Given the description of an element on the screen output the (x, y) to click on. 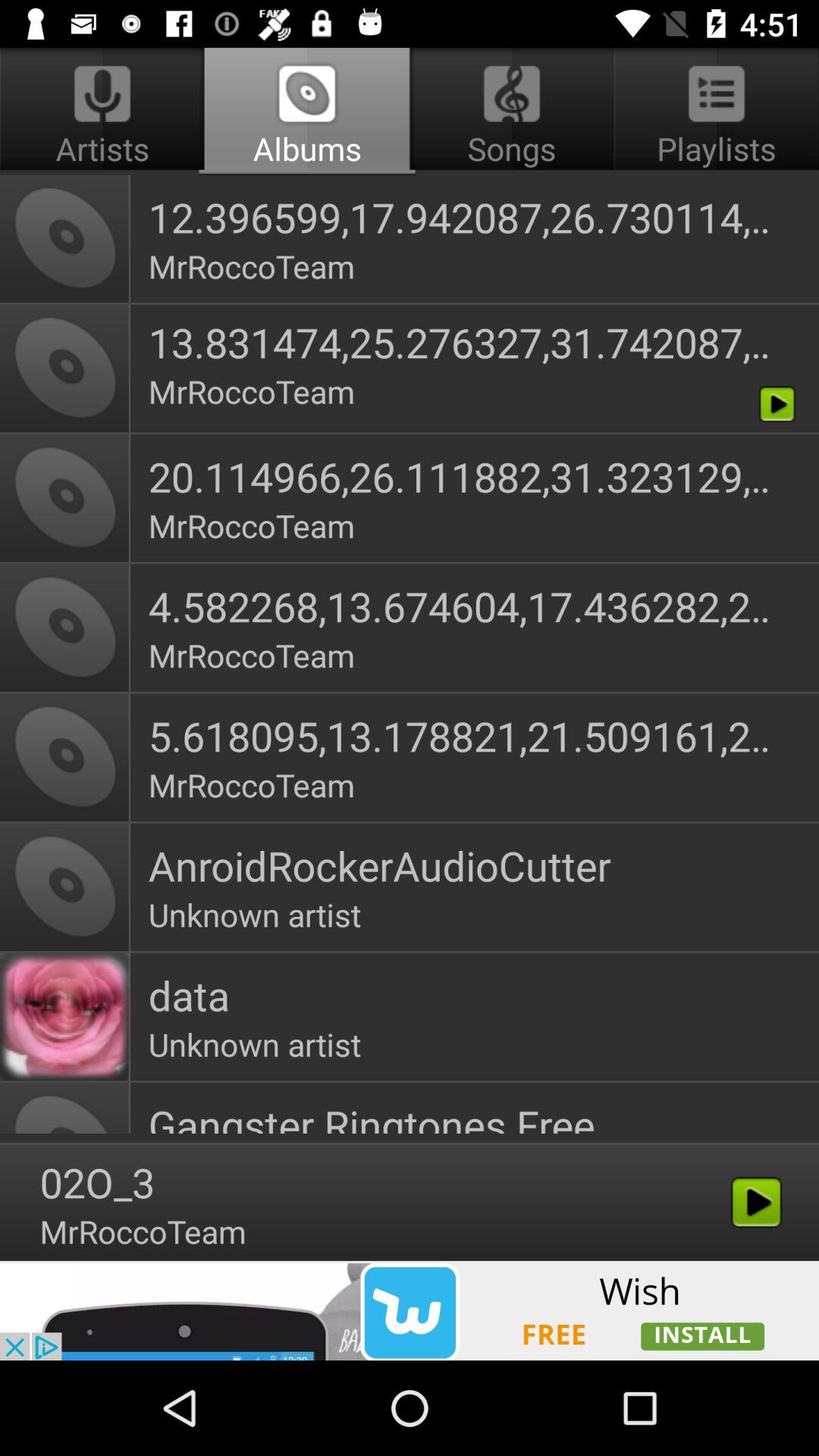
click on the advertisement (409, 1310)
